Given the description of an element on the screen output the (x, y) to click on. 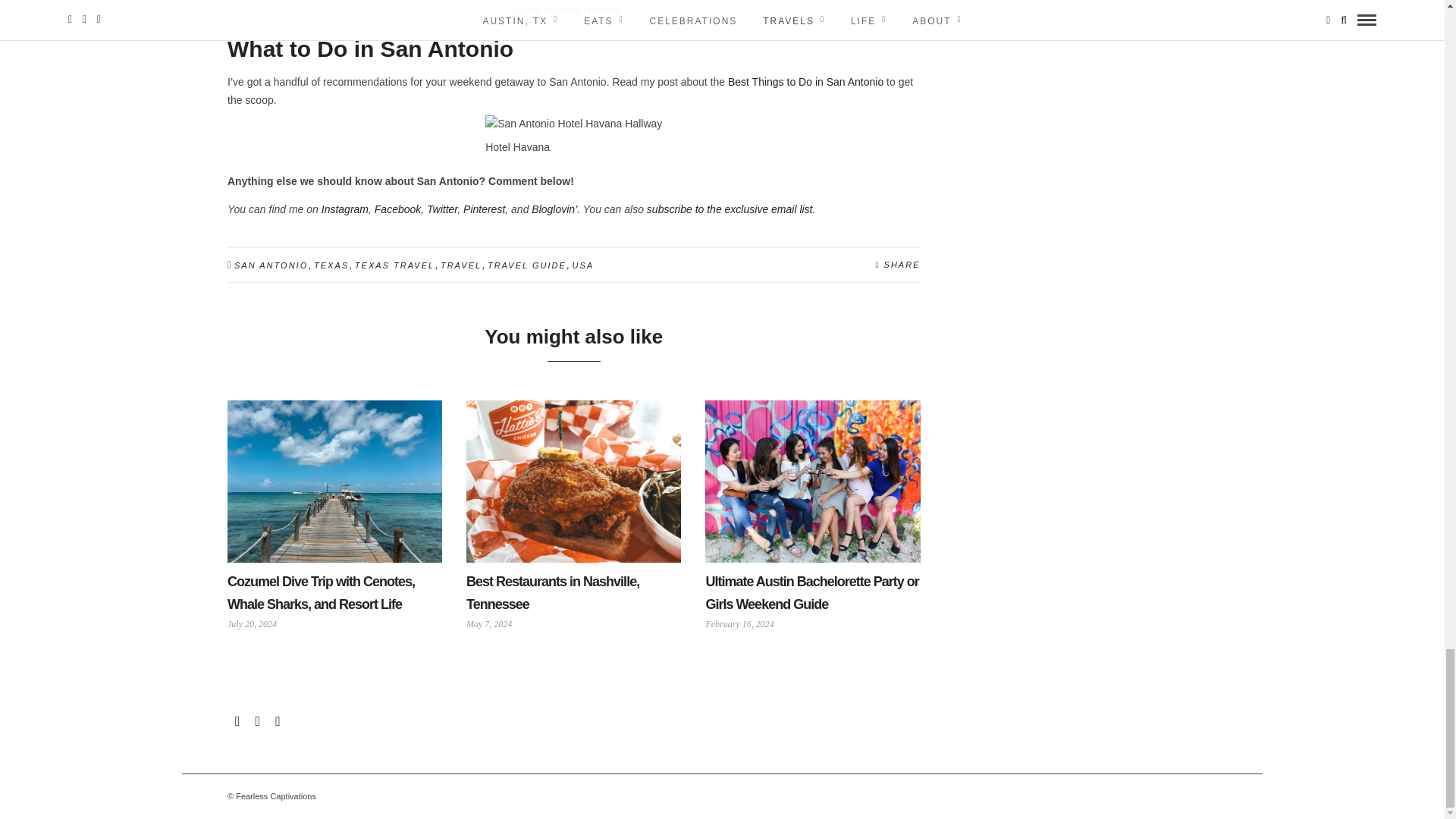
Best Restaurants in Nashville, Tennessee (552, 593)
Ultimate Austin Bachelorette Party or Girls Weekend Guide (811, 593)
